Given the description of an element on the screen output the (x, y) to click on. 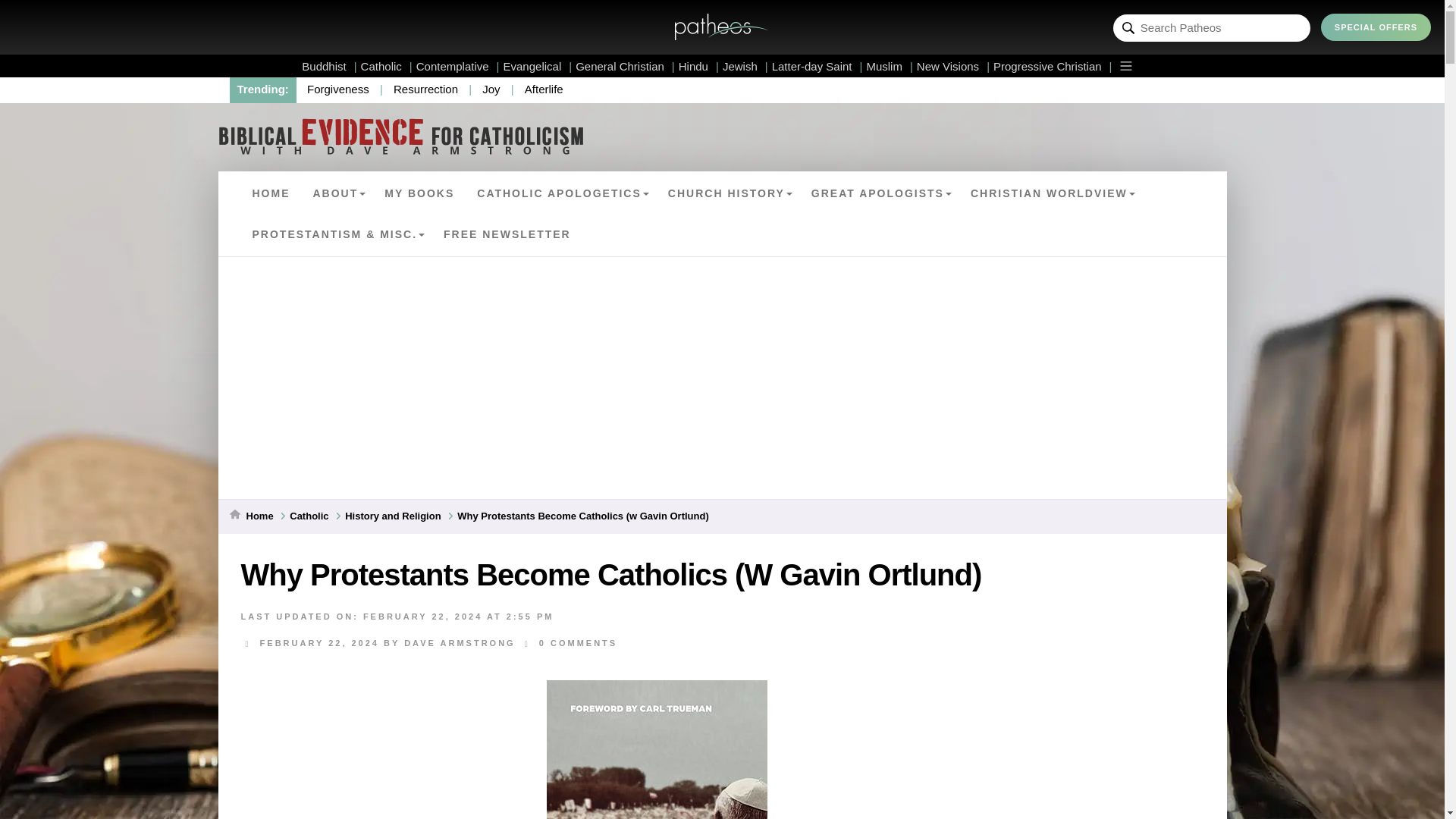
New Visions (953, 65)
Muslim (889, 65)
Hindu (698, 65)
Progressive Christian (1052, 65)
General Christian (625, 65)
SPECIAL OFFERS (1375, 26)
Latter-day Saint (817, 65)
Buddhist (328, 65)
Jewish (745, 65)
Evangelical (537, 65)
Catholic (386, 65)
Contemplative (457, 65)
